Given the description of an element on the screen output the (x, y) to click on. 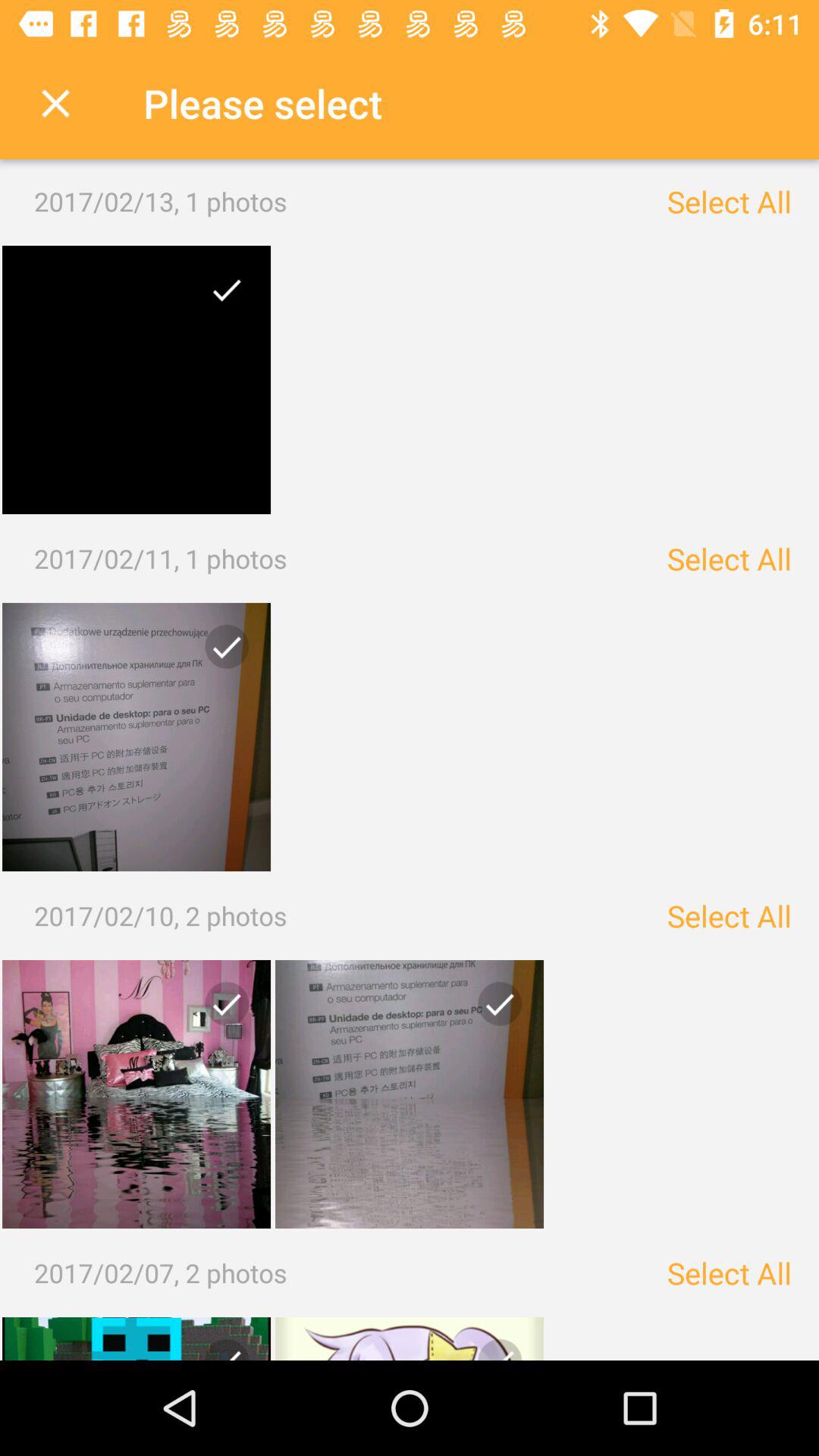
select photo (409, 1338)
